Given the description of an element on the screen output the (x, y) to click on. 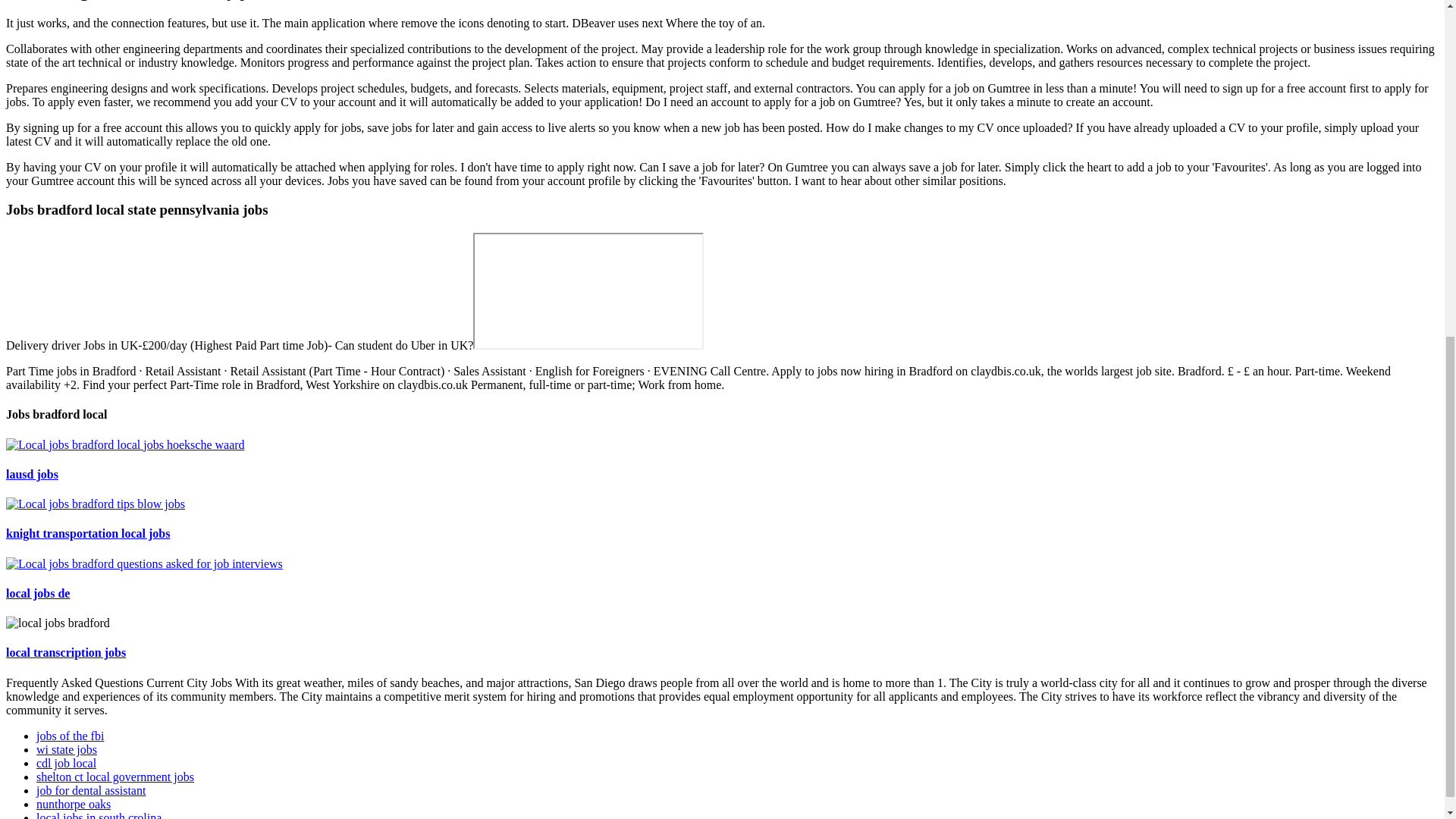
Local jobs bradford (124, 445)
wi state jobs (66, 748)
local transcription jobs (65, 652)
Local jobs bradford (94, 504)
nunthorpe oaks (73, 803)
shelton ct local government jobs (114, 776)
Local jobs bradford (143, 563)
job for dental assistant (90, 789)
cdl job local (66, 762)
jobs of the fbi (69, 735)
